Given the description of an element on the screen output the (x, y) to click on. 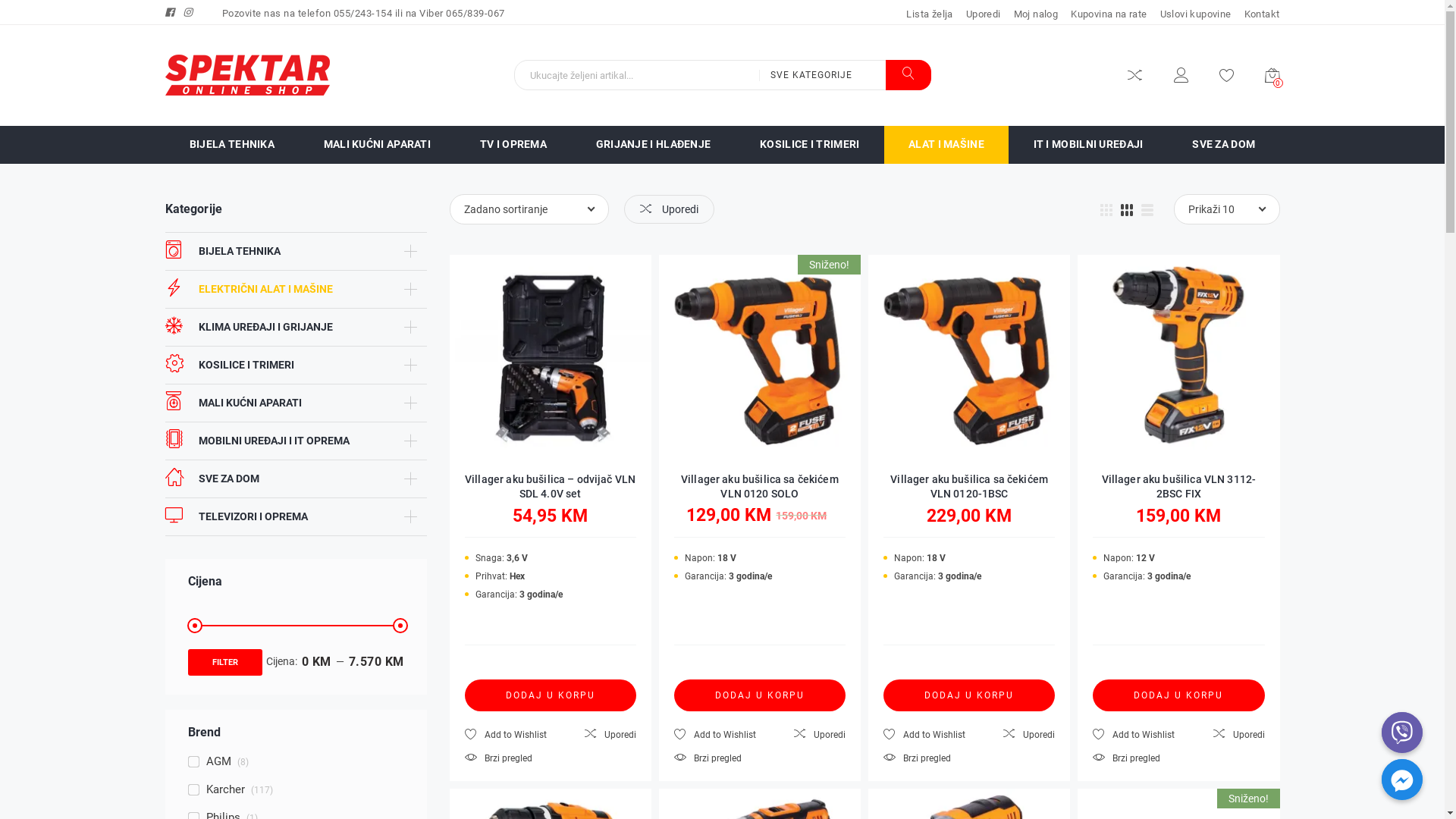
KOSILICE I TRIMERI Element type: text (809, 144)
Brzi pregled Element type: text (1126, 757)
Brzi pregled Element type: text (497, 757)
SVE ZA DOM Element type: text (1223, 144)
Add to Wishlist Element type: text (1133, 734)
Uporedi Element type: text (819, 734)
Karcher Element type: text (216, 789)
SVE ZA DOM Element type: text (212, 478)
Uporedi Element type: text (610, 734)
Add to Wishlist Element type: text (505, 734)
KOSILICE I TRIMERI Element type: text (229, 364)
DODAJ U KORPU Element type: text (1178, 695)
Moj nalog Element type: hover (1180, 76)
TELEVIZORI I OPREMA Element type: text (236, 516)
TV I OPREMA Element type: text (513, 144)
BIJELA TEHNIKA Element type: text (232, 144)
DODAJ U KORPU Element type: text (759, 695)
Uporedi Element type: text (1028, 734)
FILTER Element type: text (225, 662)
DODAJ U KORPU Element type: text (549, 695)
Uporedi Element type: text (983, 13)
Brzi pregled Element type: text (707, 757)
Add to Wishlist Element type: text (924, 734)
Uporedi Element type: text (668, 208)
AGM Element type: text (209, 761)
Uporedi Element type: text (1238, 734)
DODAJ U KORPU Element type: text (968, 695)
Moj nalog Element type: text (1035, 13)
Add to Wishlist Element type: text (715, 734)
Kontakt Element type: text (1262, 13)
BIJELA TEHNIKA Element type: text (222, 250)
Kupovina na rate Element type: text (1108, 13)
Brzi pregled Element type: text (916, 757)
Uslovi kupovine Element type: text (1195, 13)
